Given the description of an element on the screen output the (x, y) to click on. 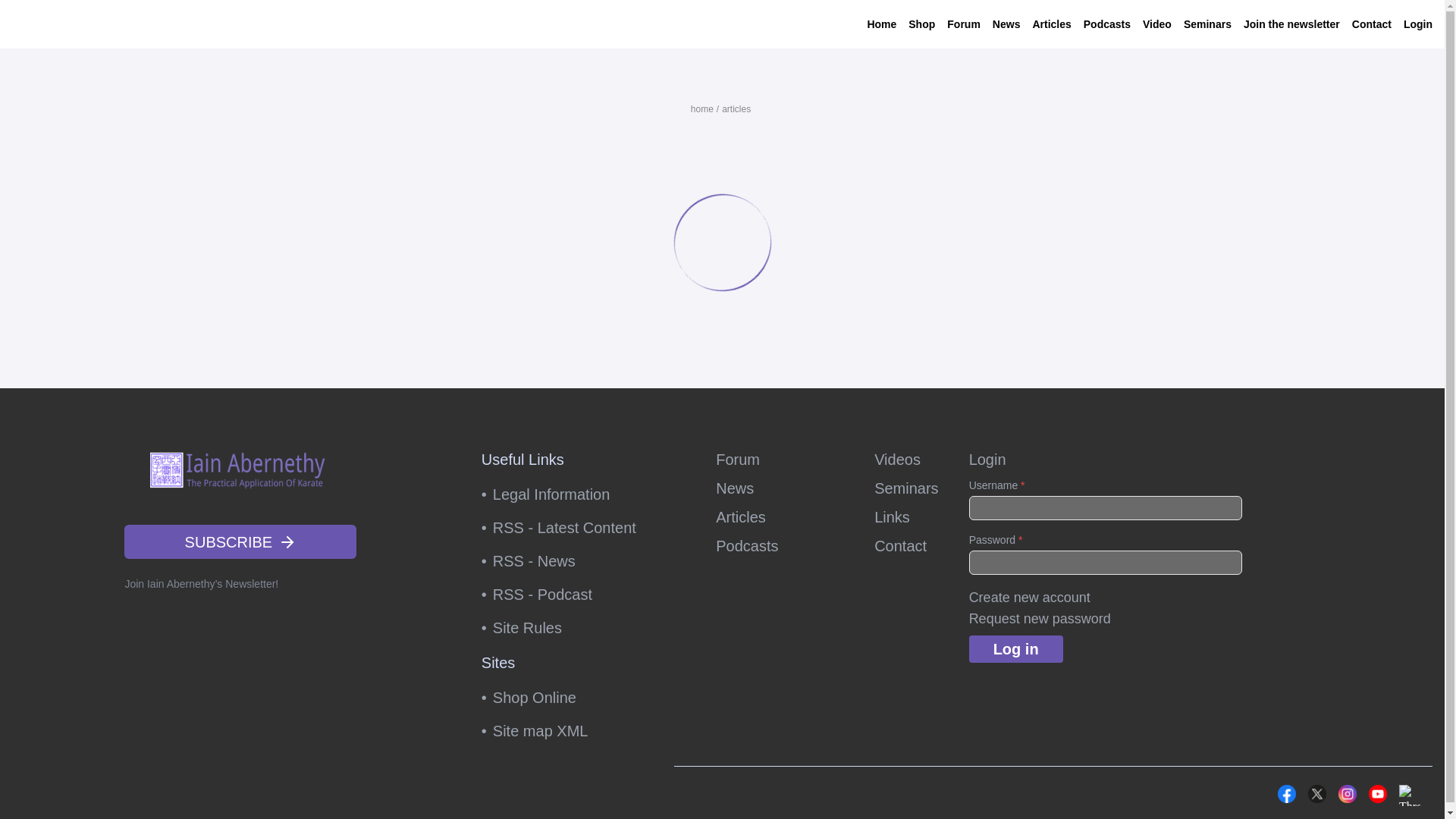
Site Rules (568, 627)
Legal Information (568, 494)
Forum (780, 459)
Log in (1015, 648)
Create new account (1029, 597)
Site map XML (568, 730)
Twitter Follow Button (1203, 792)
News (1006, 24)
Forum (963, 24)
Video (1157, 24)
Log in (1015, 648)
home (701, 109)
Shop (921, 24)
Seminars (906, 487)
Request new password (1039, 618)
